Given the description of an element on the screen output the (x, y) to click on. 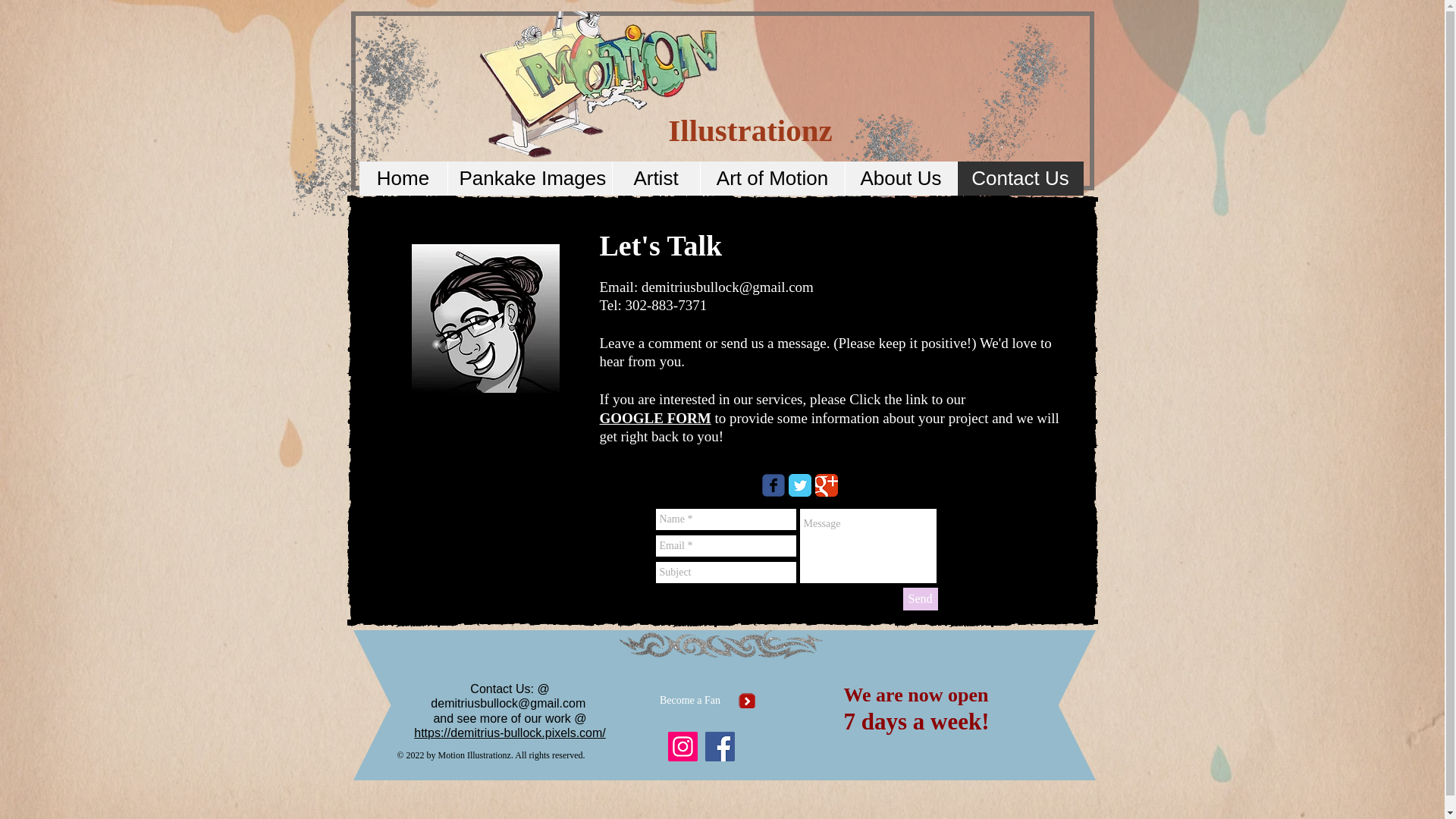
Pankake Images (528, 178)
logo1.png (600, 92)
We are now open (915, 694)
About Us (900, 178)
Home (402, 178)
Contact Us (1019, 178)
Become a Fan (690, 700)
Send (919, 599)
Art of Motion (771, 178)
Artist (654, 178)
GOOGLE FORM (654, 417)
